Given the description of an element on the screen output the (x, y) to click on. 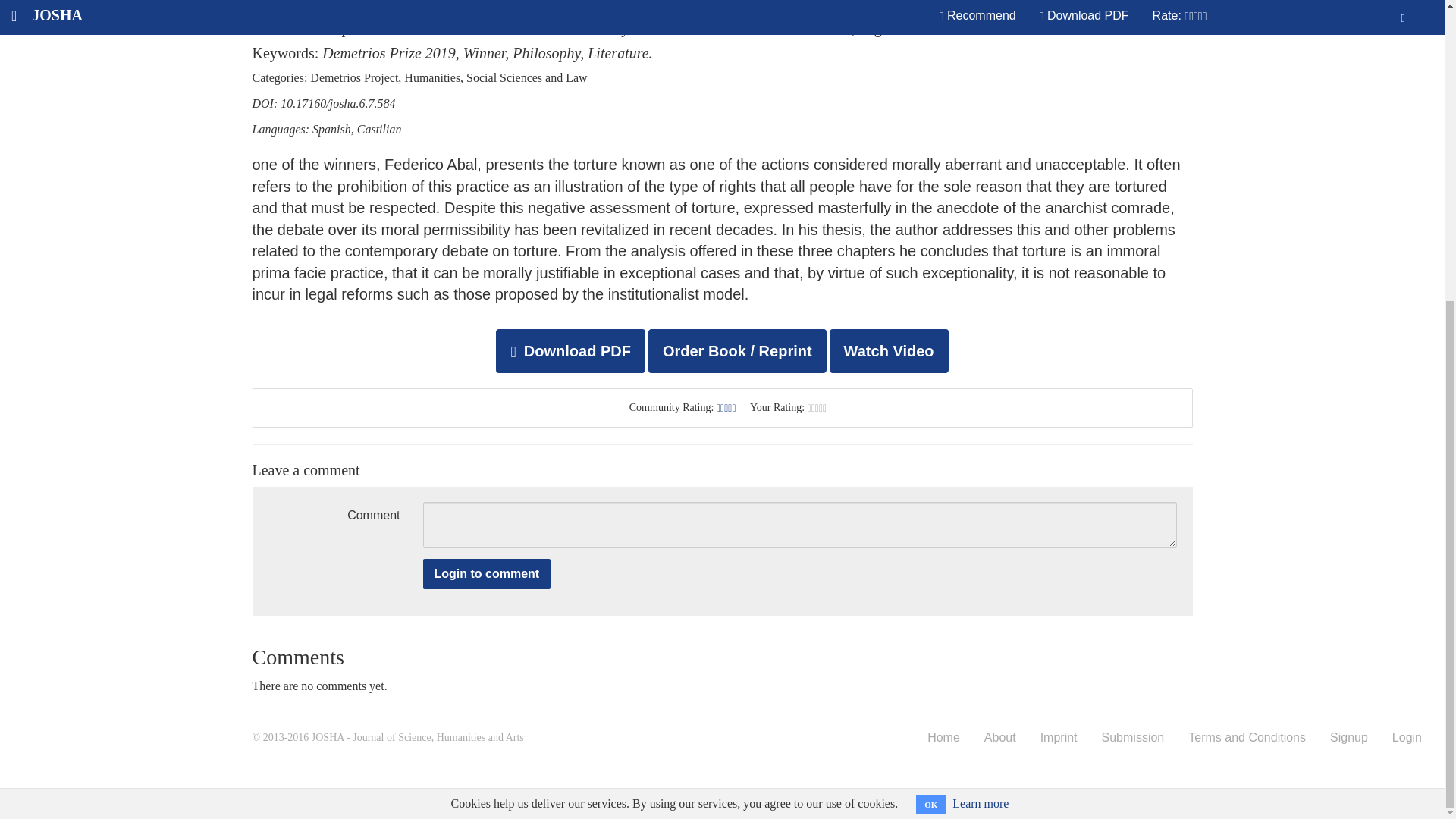
Watch Video (889, 351)
Login (1406, 738)
Signup (1348, 738)
Login to comment (487, 573)
About (999, 738)
Home (943, 738)
OK (929, 335)
Imprint (1059, 738)
Watch Video (889, 349)
Download PDF (570, 351)
Submission (1133, 738)
Download PDF (571, 349)
Terms and Conditions (1246, 738)
Federico Abal (324, 5)
Learn more (980, 334)
